Given the description of an element on the screen output the (x, y) to click on. 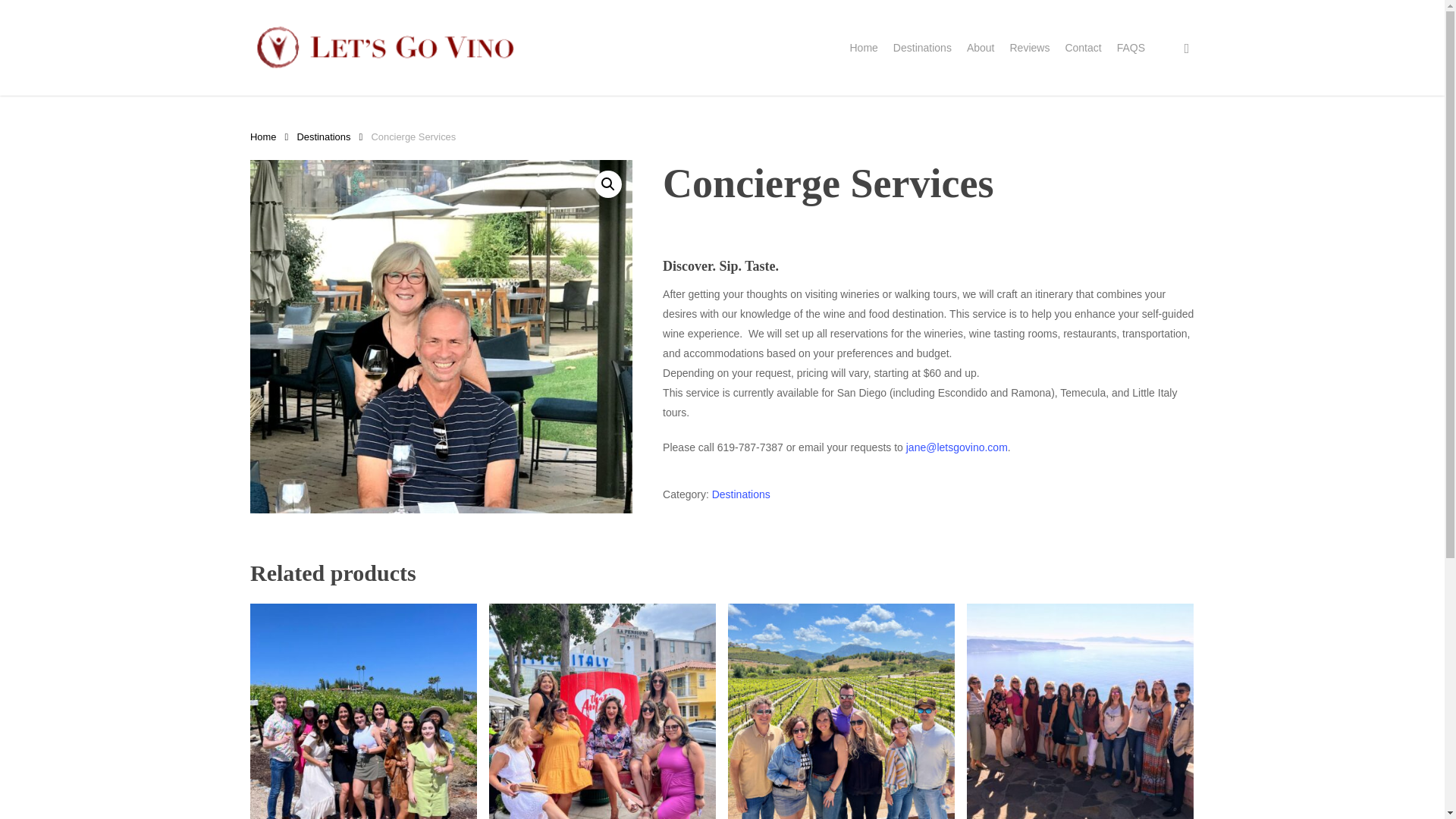
Destinations (922, 47)
Reviews (1029, 47)
Home (862, 47)
Destinations (323, 136)
Home (263, 136)
About (980, 47)
Contact (1082, 47)
FAQS (1130, 47)
Destinations (740, 494)
